Given the description of an element on the screen output the (x, y) to click on. 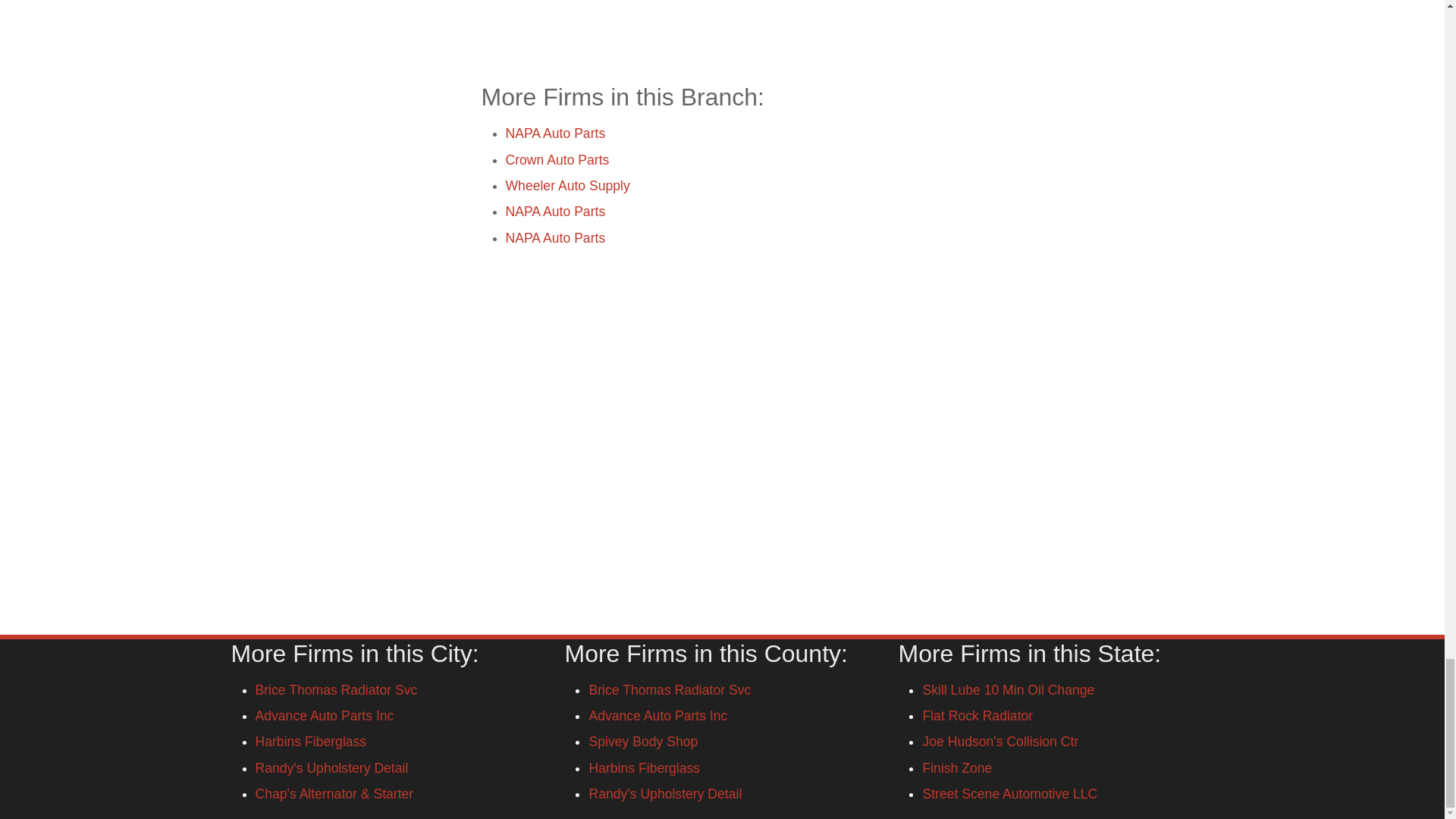
NAPA Auto Parts (555, 211)
Crown Auto Parts (556, 159)
NAPA Auto Parts (555, 237)
Wheeler Auto Supply (566, 185)
NAPA Auto Parts (555, 133)
